Given the description of an element on the screen output the (x, y) to click on. 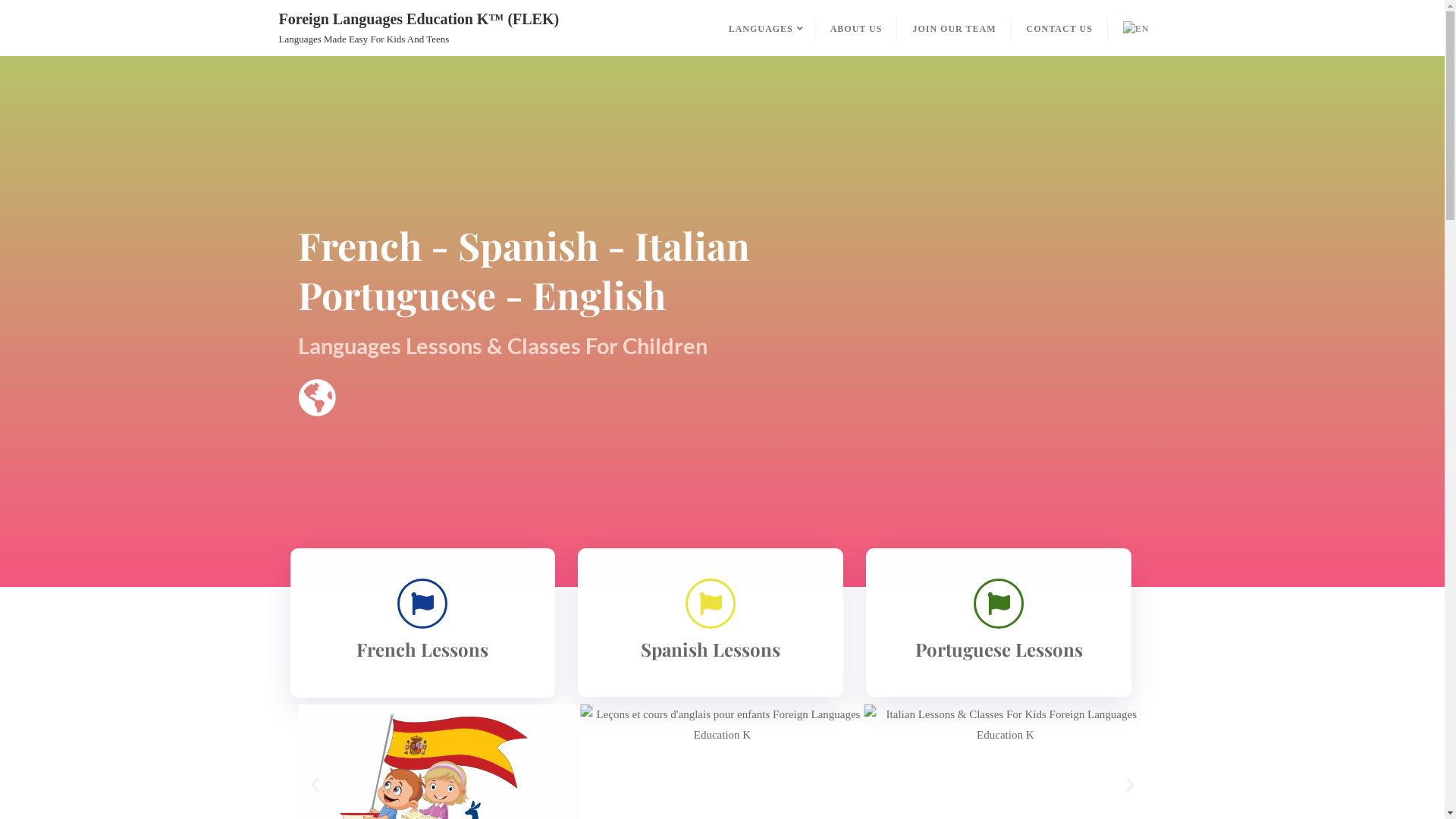
JOIN OUR TEAM Element type: text (953, 28)
Spanish Lessons Element type: text (710, 649)
LANGUAGES Element type: text (764, 28)
French Lessons Element type: text (422, 649)
CONTACT US Element type: text (1059, 28)
English Element type: hover (1136, 28)
ABOUT US Element type: text (856, 28)
Portuguese Lessons Element type: text (998, 649)
